Given the description of an element on the screen output the (x, y) to click on. 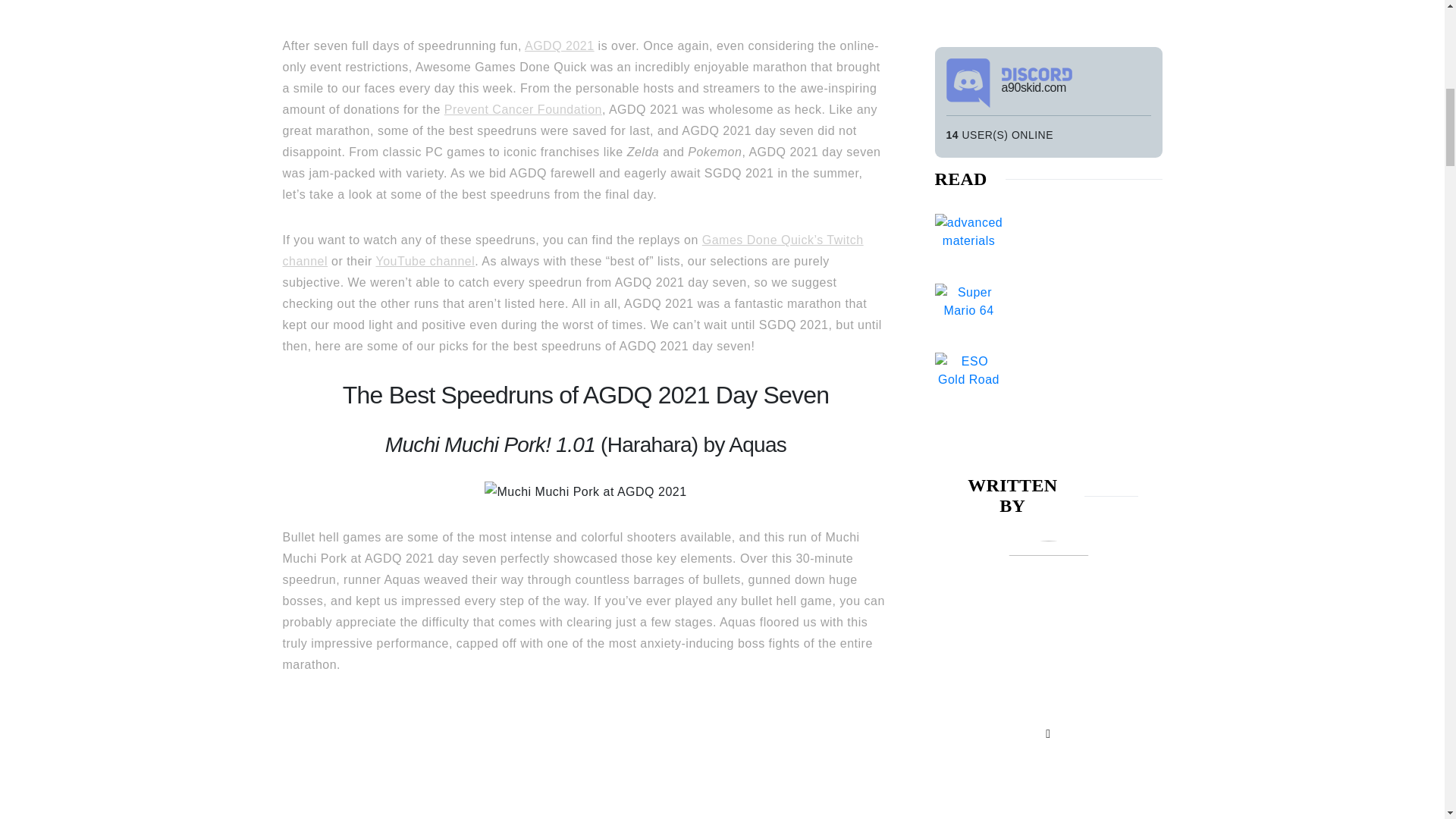
AGDQ 2021 (559, 45)
YouTube channel (424, 260)
Prevent Cancer Foundation (523, 109)
